Given the description of an element on the screen output the (x, y) to click on. 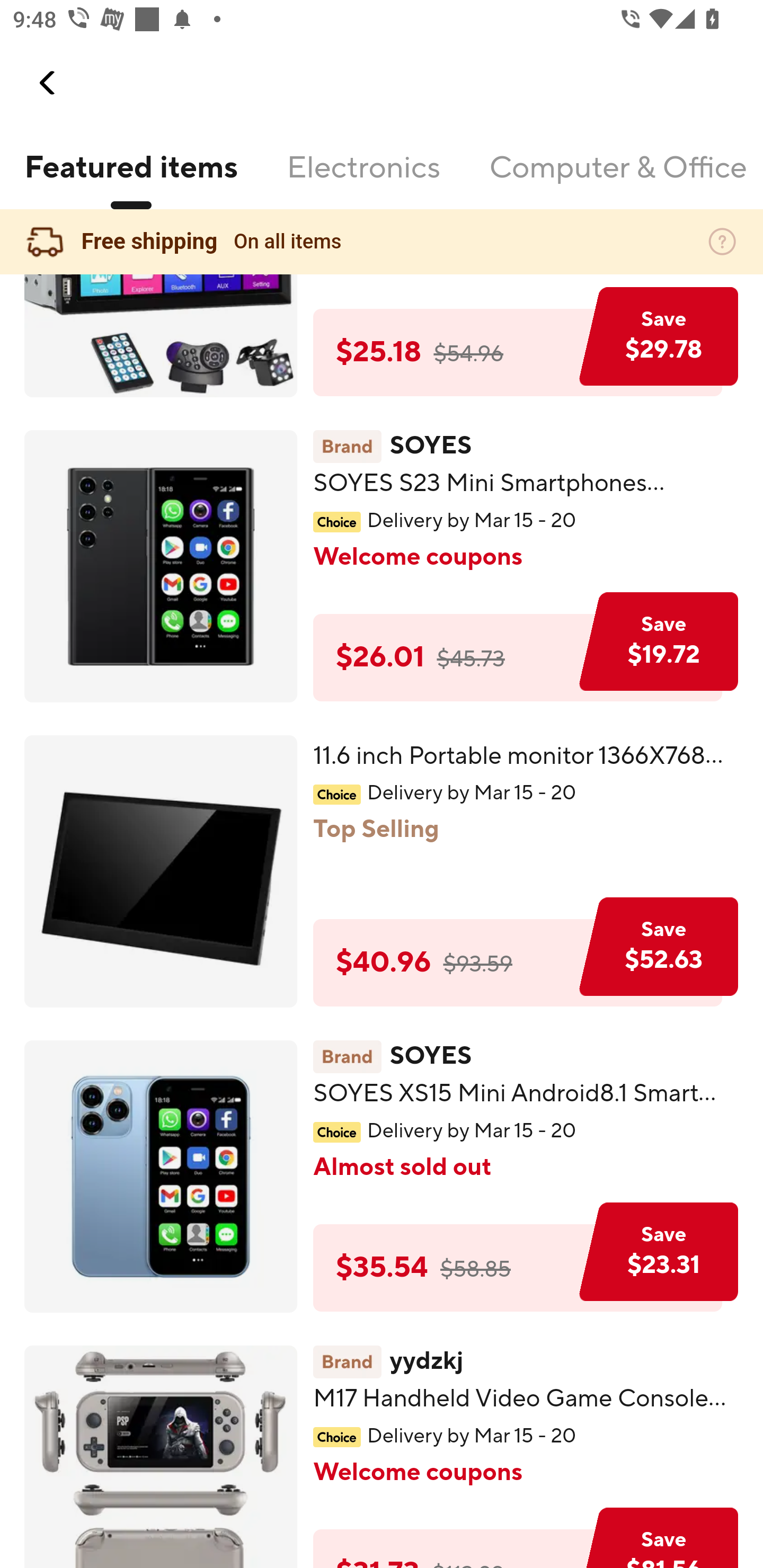
 (48, 82)
Featured items (130, 178)
Electronics (363, 178)
Computer & Office (617, 178)
